Given the description of an element on the screen output the (x, y) to click on. 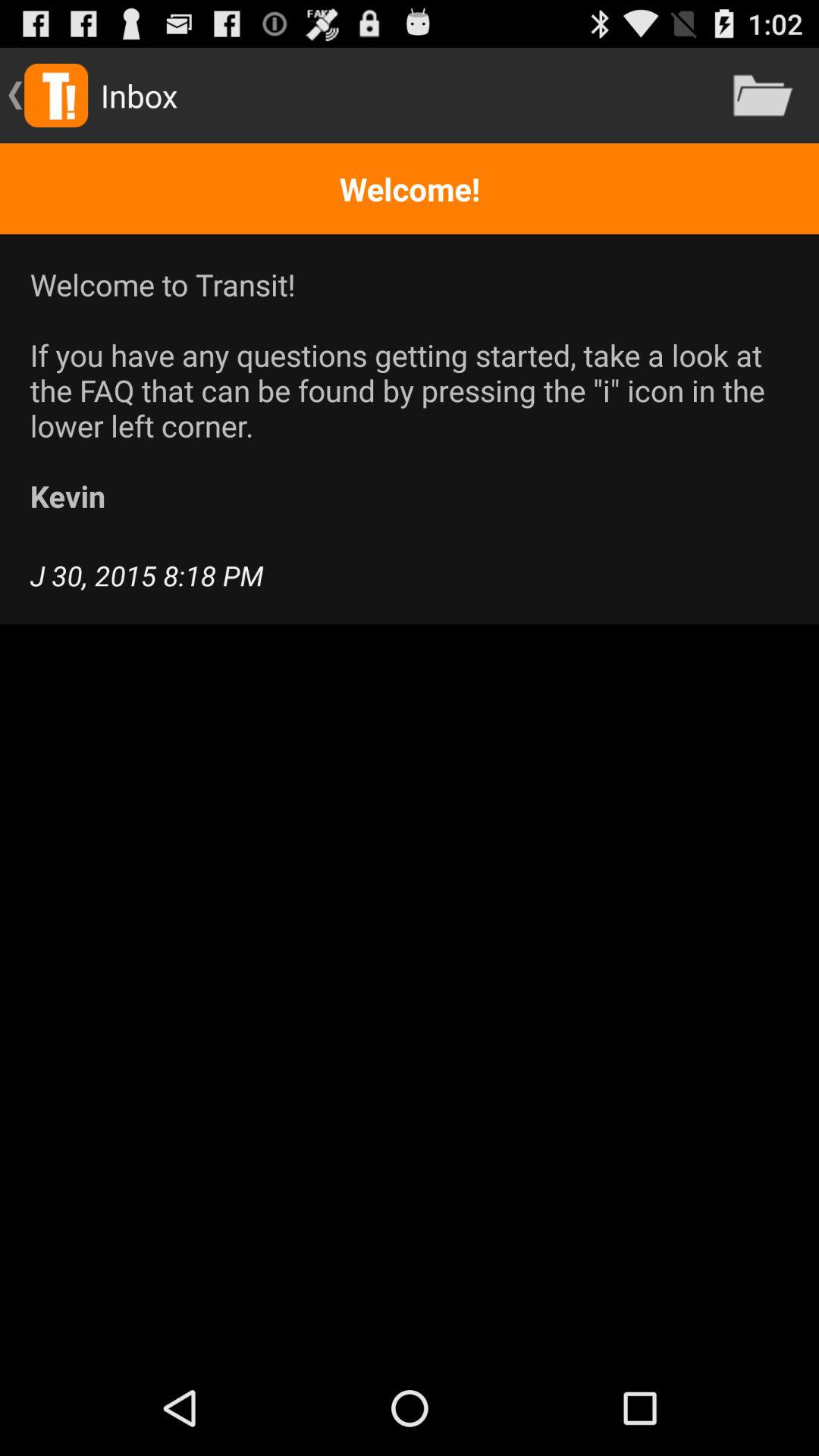
open the icon above welcome! item (763, 95)
